Given the description of an element on the screen output the (x, y) to click on. 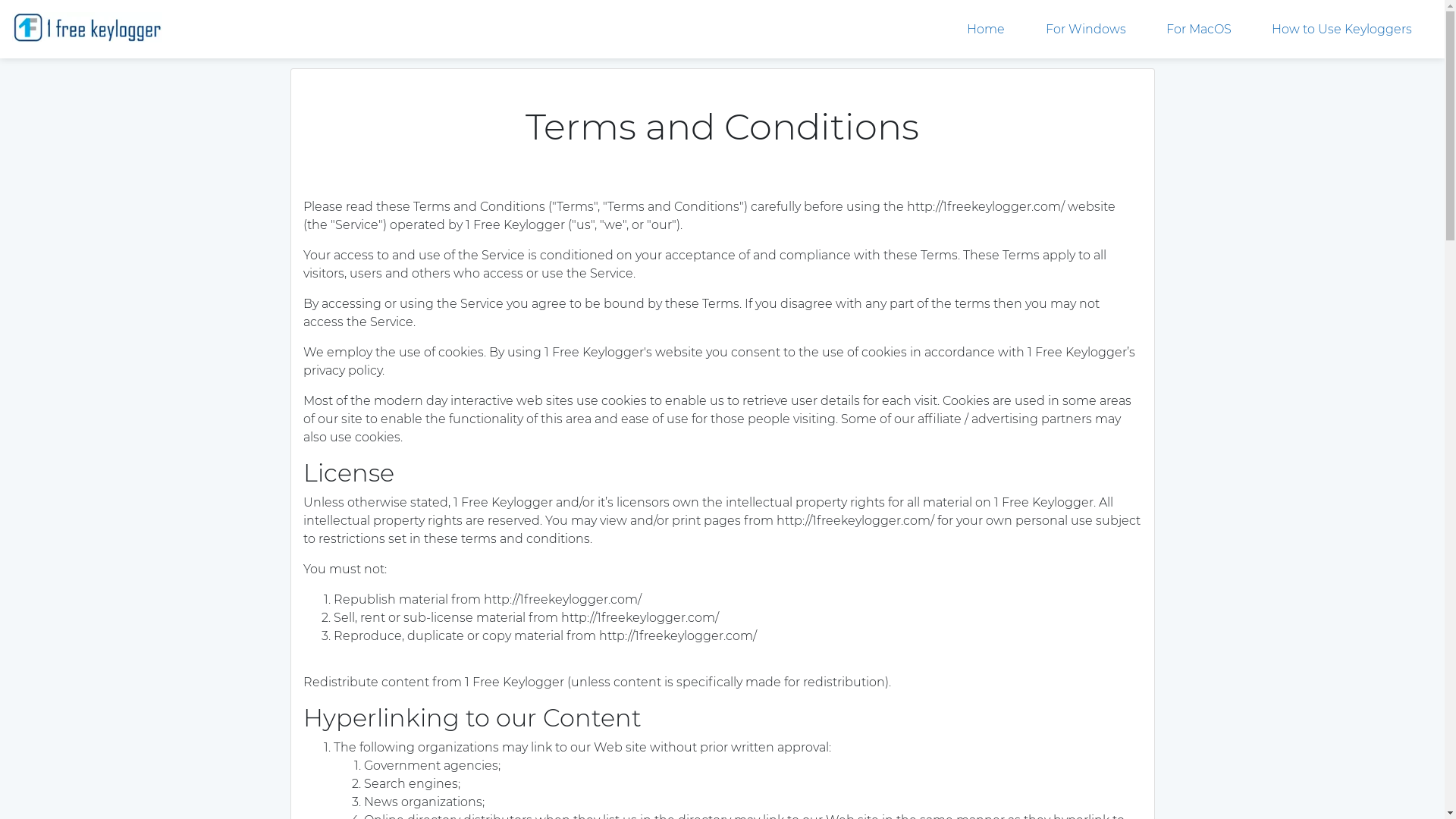
1FreeKeylogger home page Element type: hover (87, 29)
1FreeKeylogger Home Page Element type: hover (87, 27)
Home Element type: text (985, 28)
How to Use Keyloggers Element type: text (1341, 28)
For Windows Element type: text (1085, 28)
For MacOS Element type: text (1198, 28)
